Given the description of an element on the screen output the (x, y) to click on. 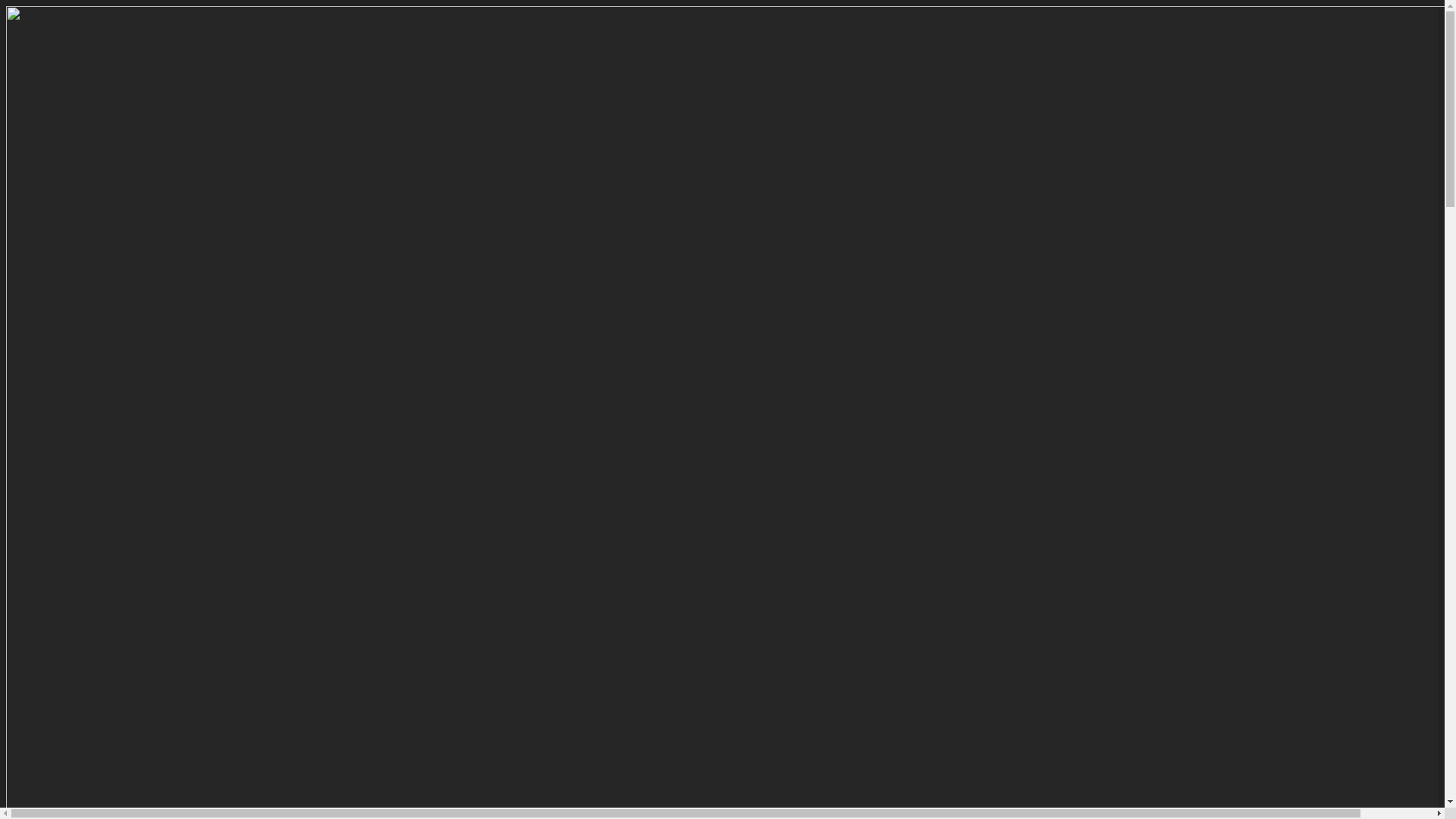
Skip to content Element type: text (5, 5)
